Given the description of an element on the screen output the (x, y) to click on. 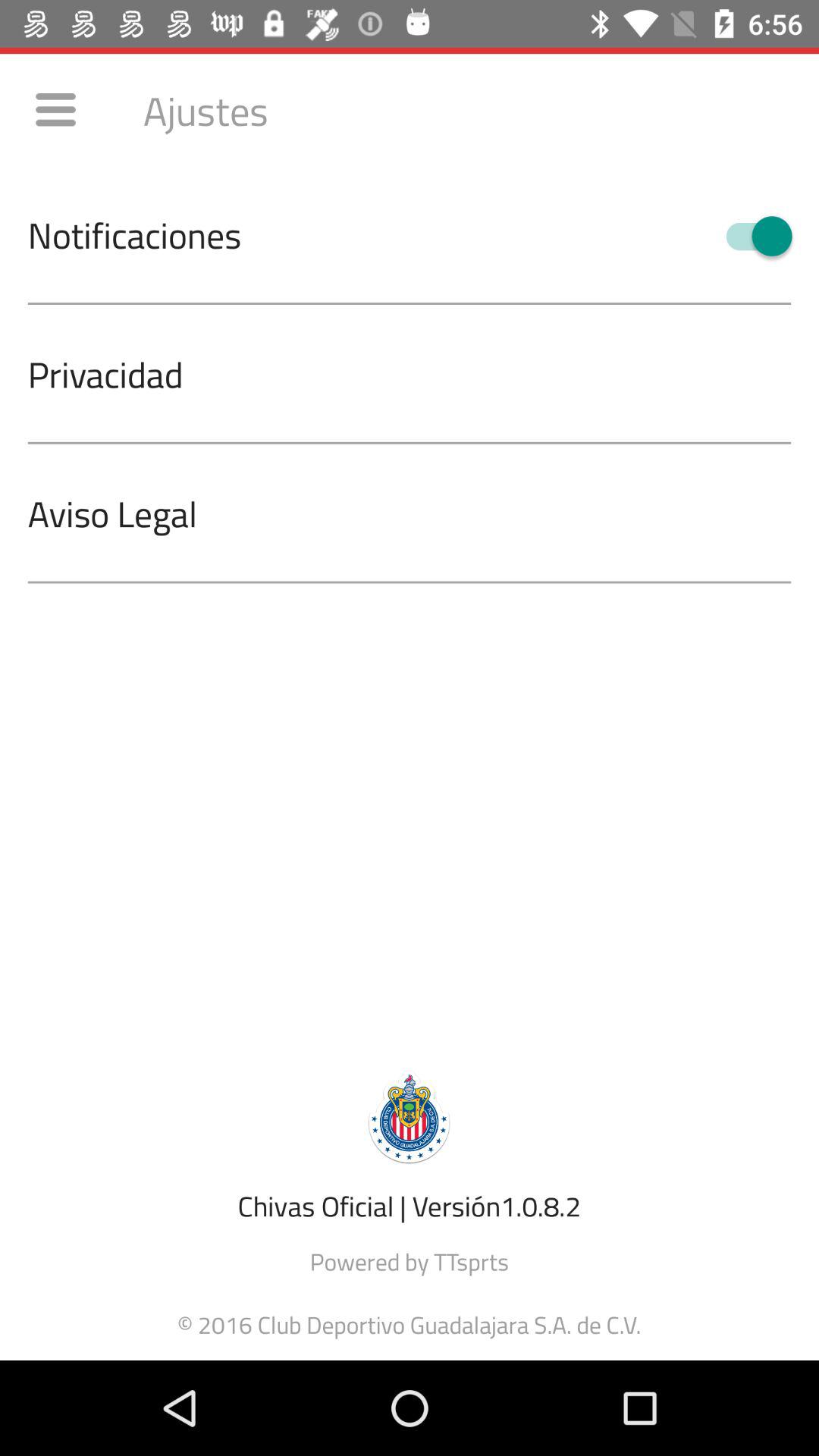
click the icon to the right of notificaciones (751, 236)
